Given the description of an element on the screen output the (x, y) to click on. 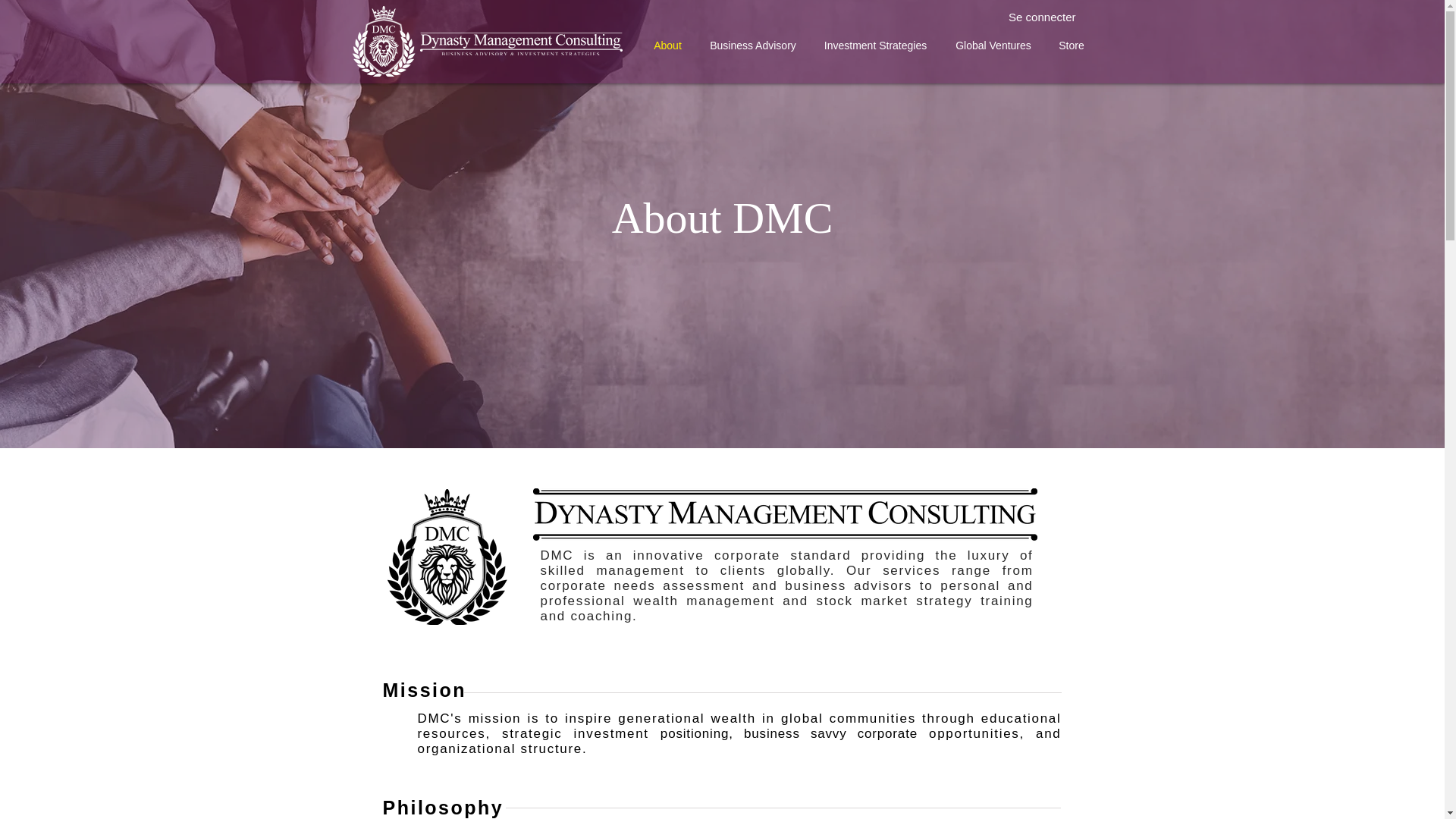
Store (1071, 45)
Global Ventures (993, 45)
Investment Strategies (874, 45)
About (667, 45)
Se connecter (1041, 16)
Business Advisory (751, 45)
